Given the description of an element on the screen output the (x, y) to click on. 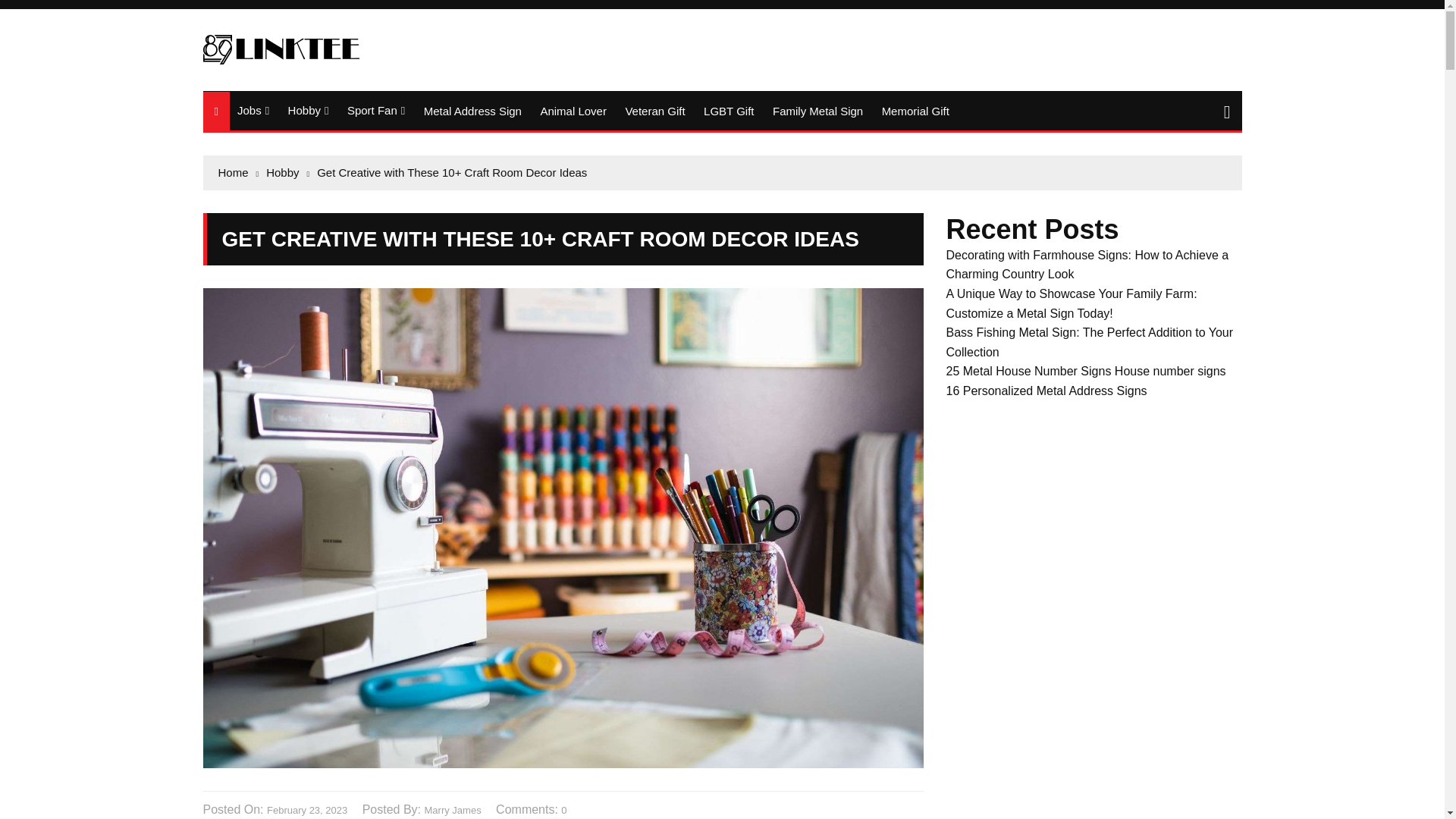
Jobs (253, 110)
Hobby (308, 110)
Sport Fan (375, 110)
